Given the description of an element on the screen output the (x, y) to click on. 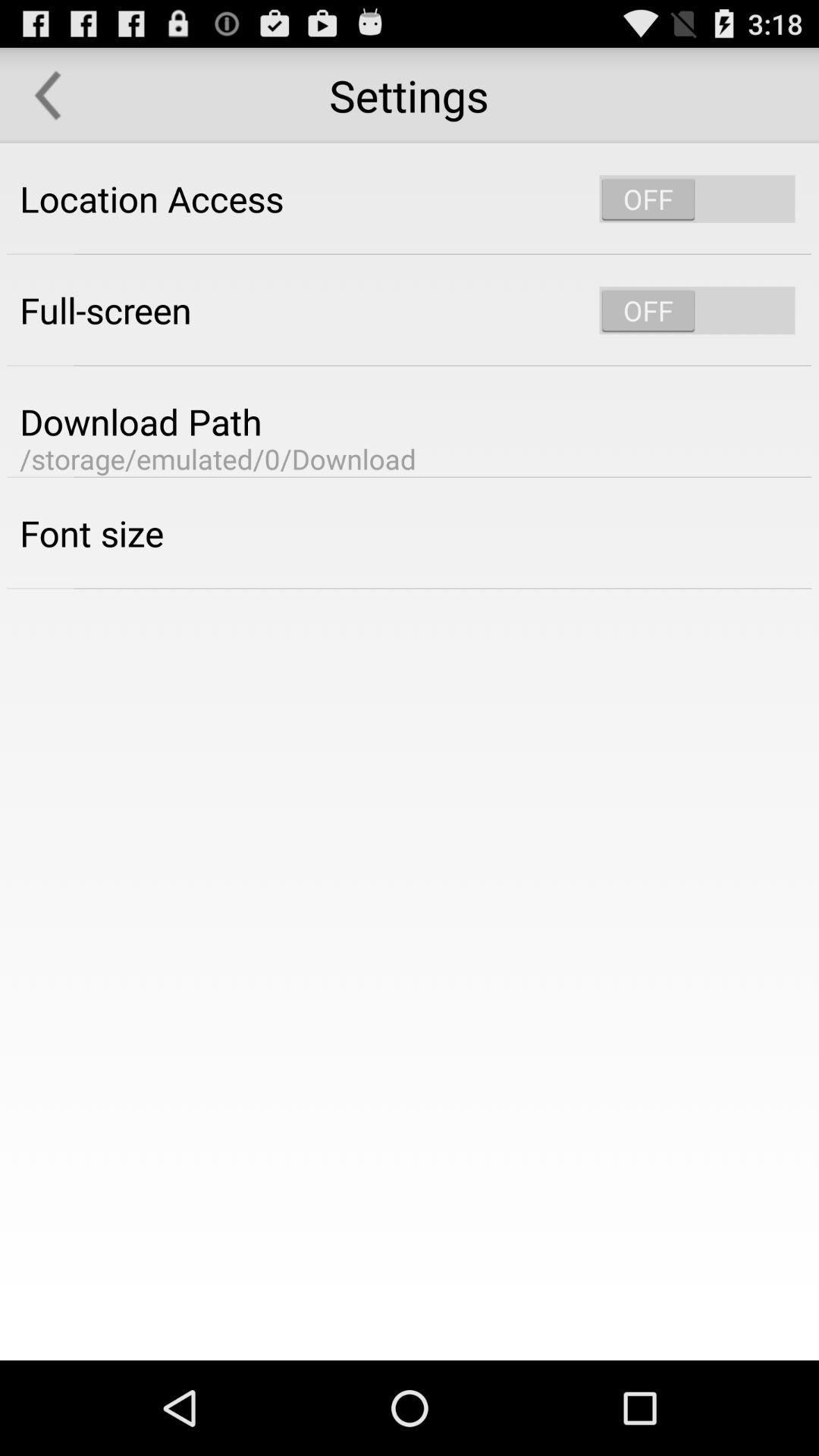
toggle full-screen display (697, 310)
